Given the description of an element on the screen output the (x, y) to click on. 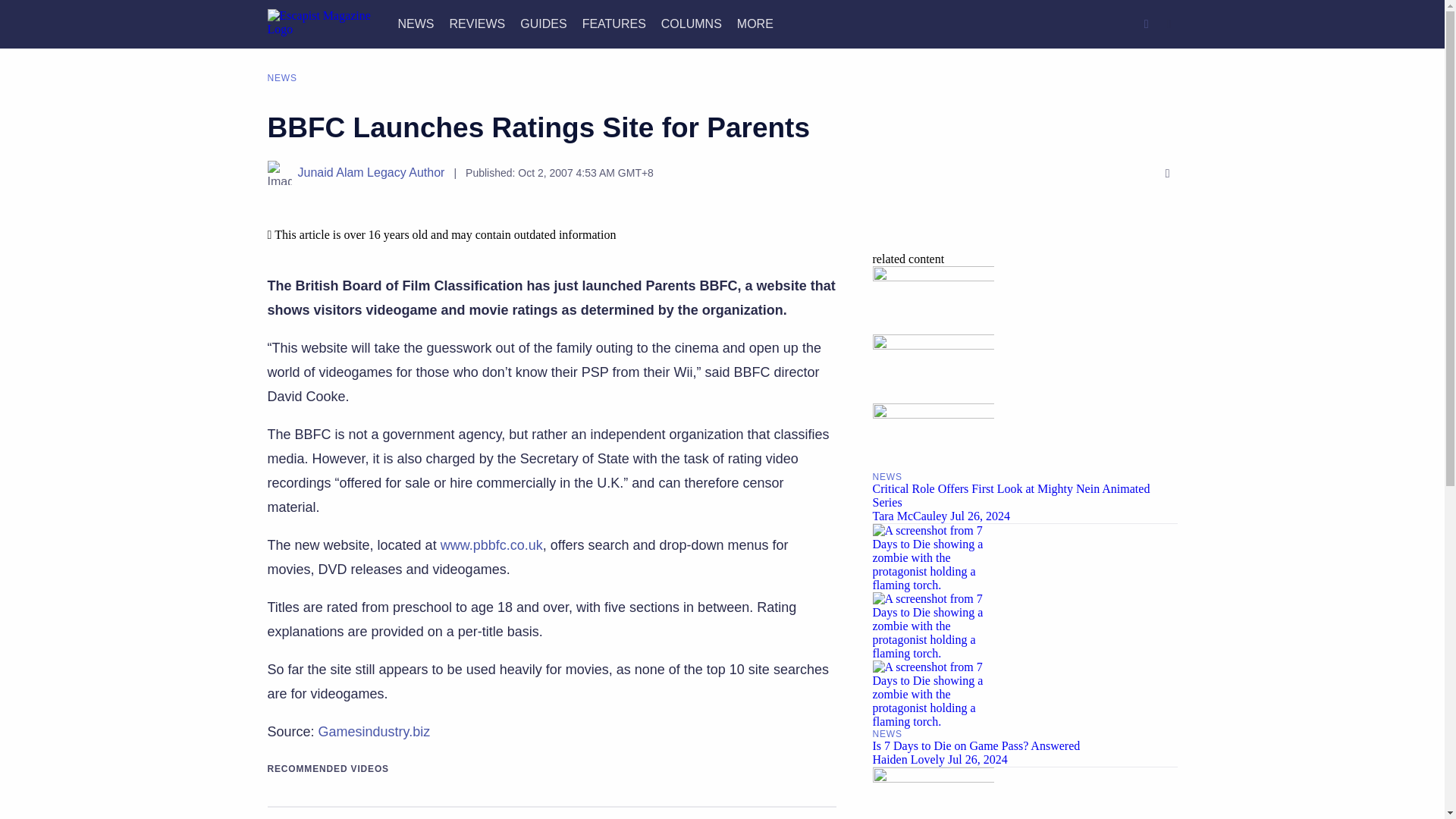
FEATURES (614, 23)
REVIEWS (476, 23)
GUIDES (542, 23)
NEWS (415, 23)
COLUMNS (691, 23)
